Given the description of an element on the screen output the (x, y) to click on. 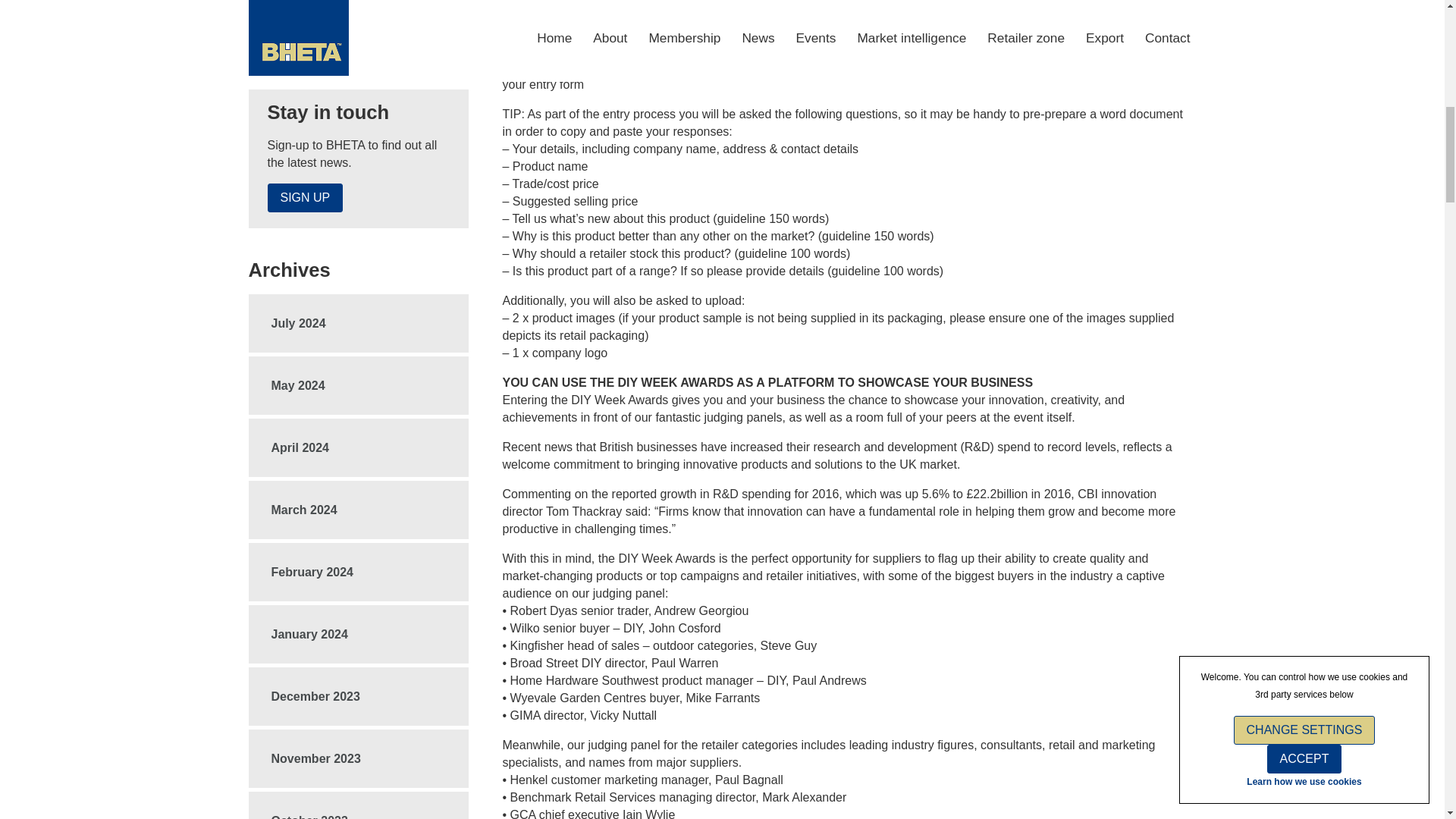
November 2023 (358, 758)
December 2023 (358, 696)
January 2024 (358, 633)
April 2024 (358, 447)
July 2024 (358, 323)
May 2024 (358, 385)
February 2024 (358, 571)
March 2024 (358, 509)
October 2023 (358, 811)
SIGN UP (304, 197)
